Given the description of an element on the screen output the (x, y) to click on. 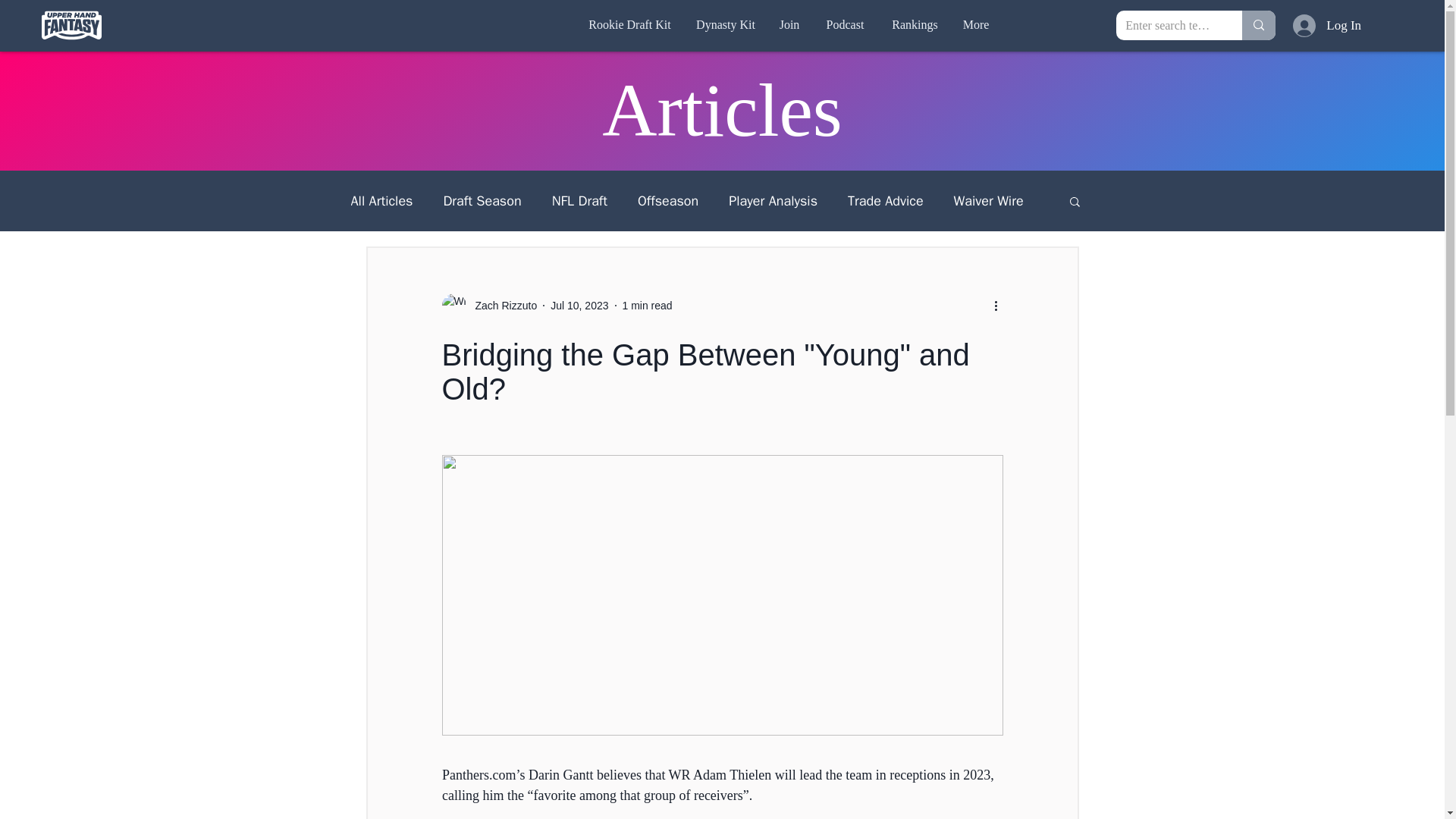
Join (788, 24)
Trade Advice (885, 200)
Log In (1308, 24)
1 min read (646, 304)
NFL Draft (579, 200)
Offseason (667, 200)
Podcast (844, 24)
Draft Season (481, 200)
All Articles (381, 200)
Zach Rizzuto (501, 304)
Jul 10, 2023 (579, 304)
Waiver Wire (988, 200)
Player Analysis (772, 200)
Zach Rizzuto (489, 305)
